Given the description of an element on the screen output the (x, y) to click on. 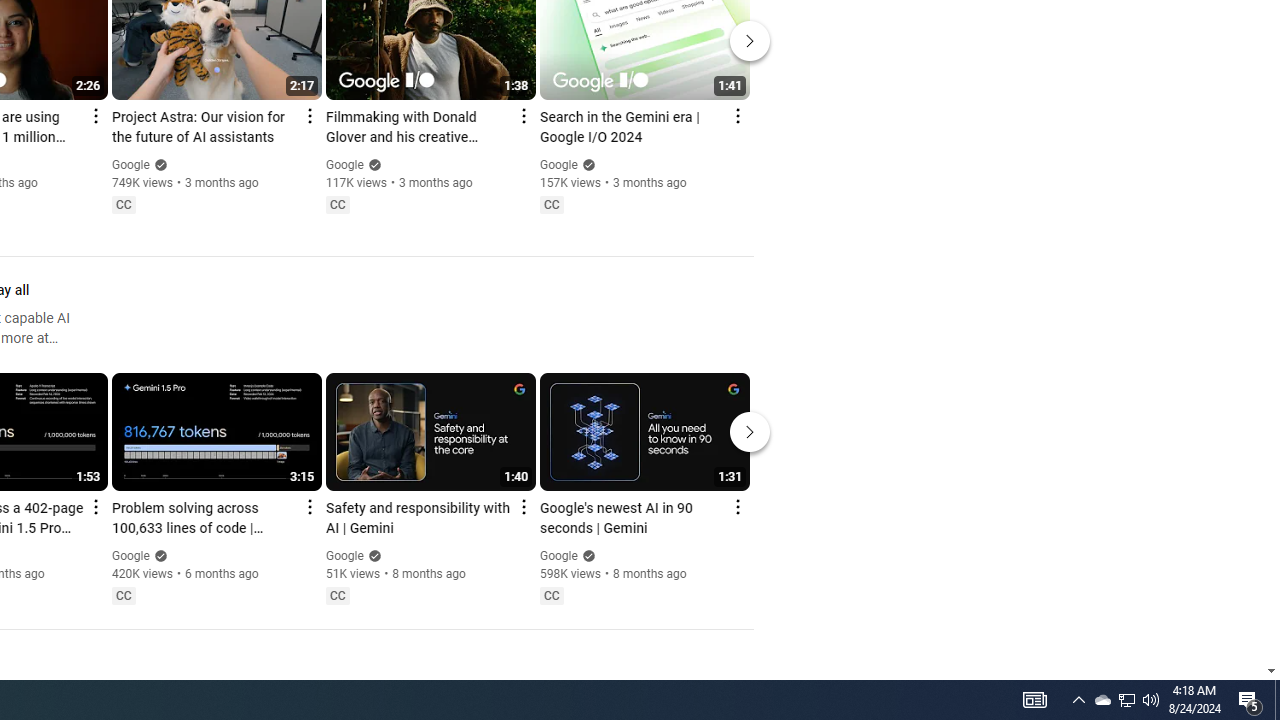
Closed captions (551, 595)
